Given the description of an element on the screen output the (x, y) to click on. 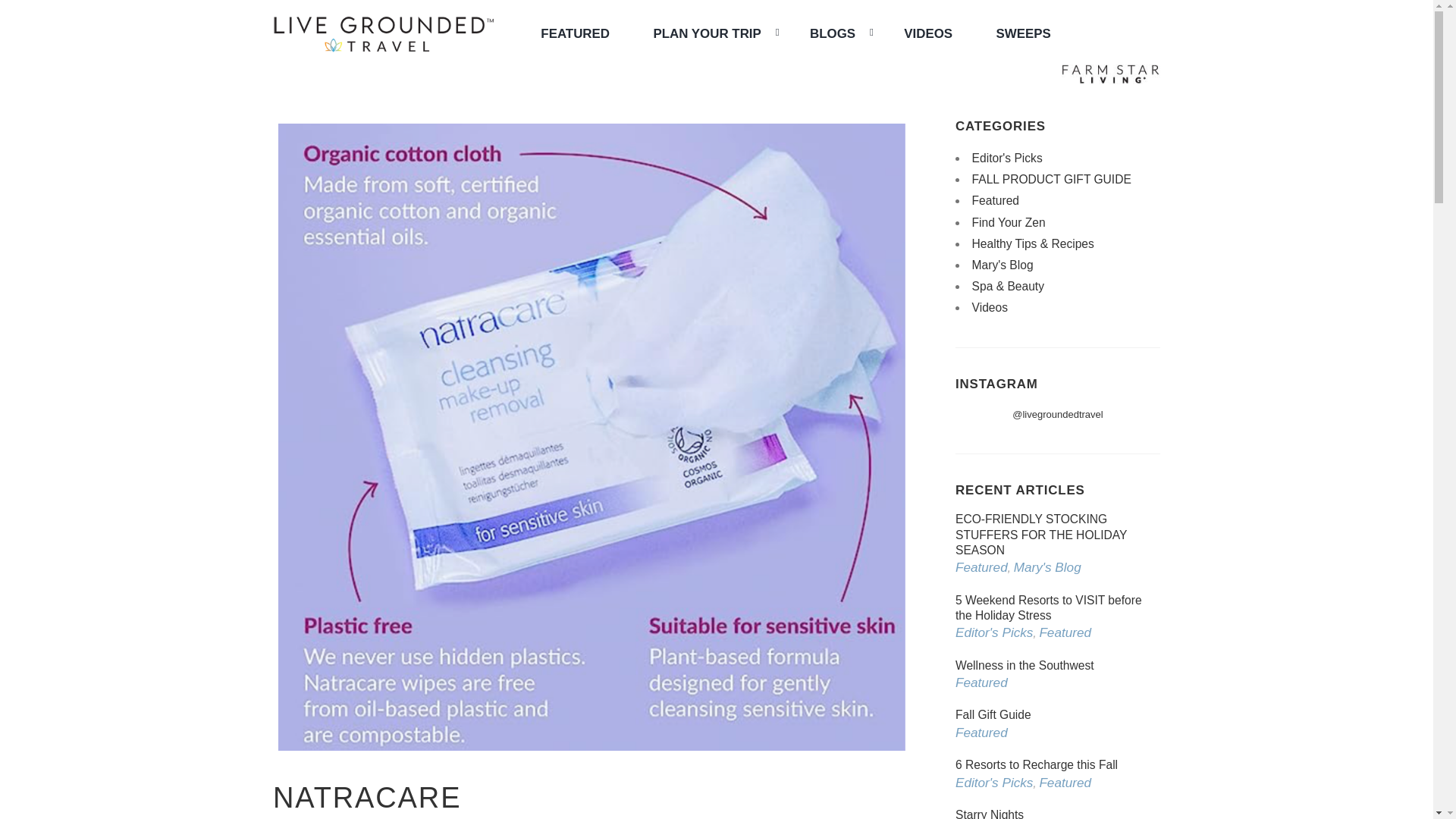
BLOGS (834, 34)
VIDEOS (927, 34)
PLAN YOUR TRIP (708, 34)
FEATURED (574, 34)
SWEEPS (1023, 34)
